Given the description of an element on the screen output the (x, y) to click on. 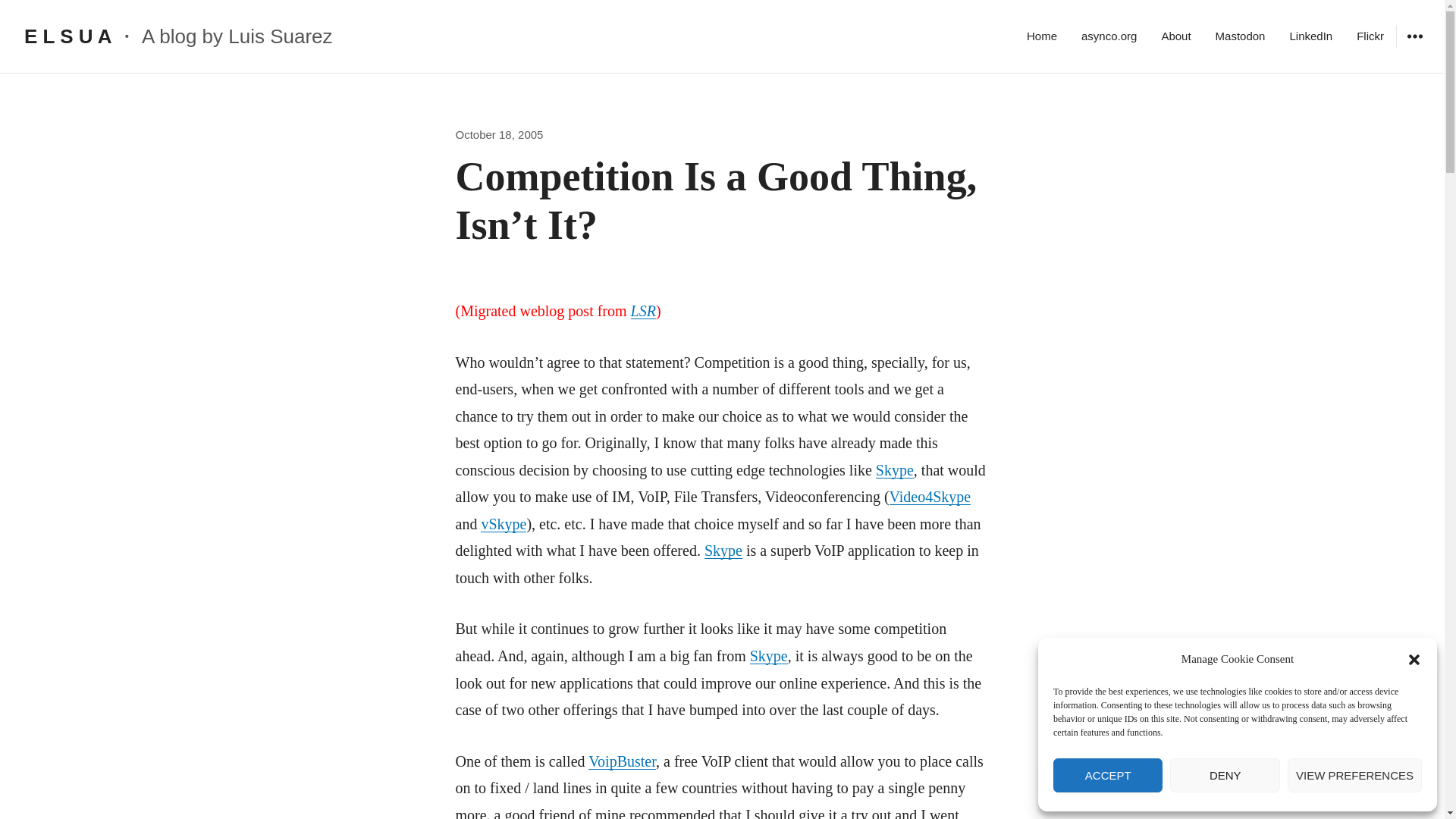
Flickr (1369, 36)
Skype (723, 550)
WIDGETS (1414, 36)
Mastodon (1241, 36)
October 18, 2005 (498, 133)
vSkype (502, 523)
Skype (895, 469)
asynco.org (1108, 36)
Skype (768, 655)
Mastodon (1241, 36)
LSR (643, 310)
About (1175, 36)
Video4Skype (930, 496)
Home (1041, 36)
VoipBuster (622, 760)
